Given the description of an element on the screen output the (x, y) to click on. 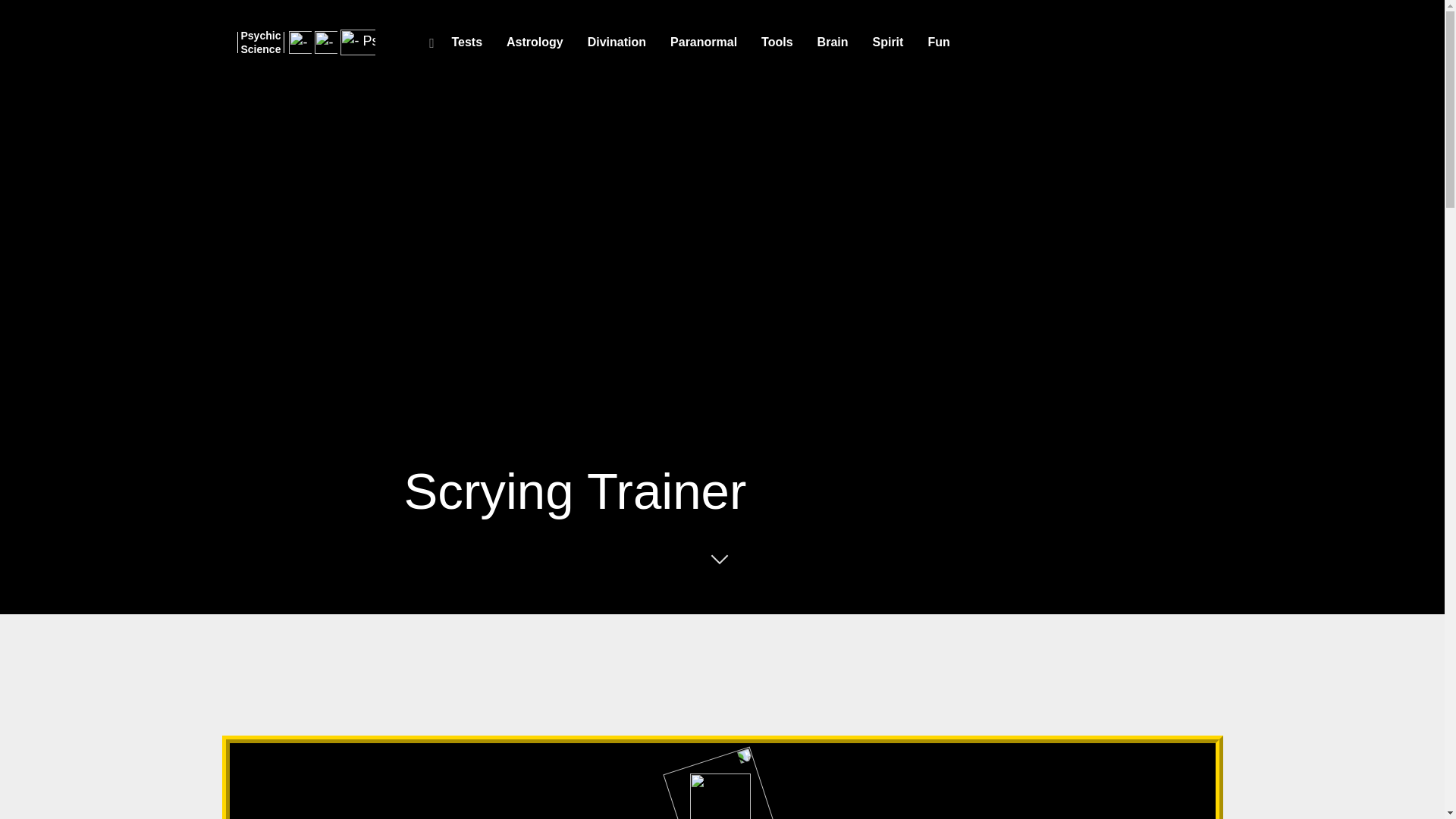
Tests (467, 42)
Astrology (535, 42)
- Home Page (259, 41)
- Psychic Science Shop (357, 41)
Divination (616, 42)
- Facebook (299, 41)
Paranormal (703, 42)
- Support Psychic Science (325, 41)
